Given the description of an element on the screen output the (x, y) to click on. 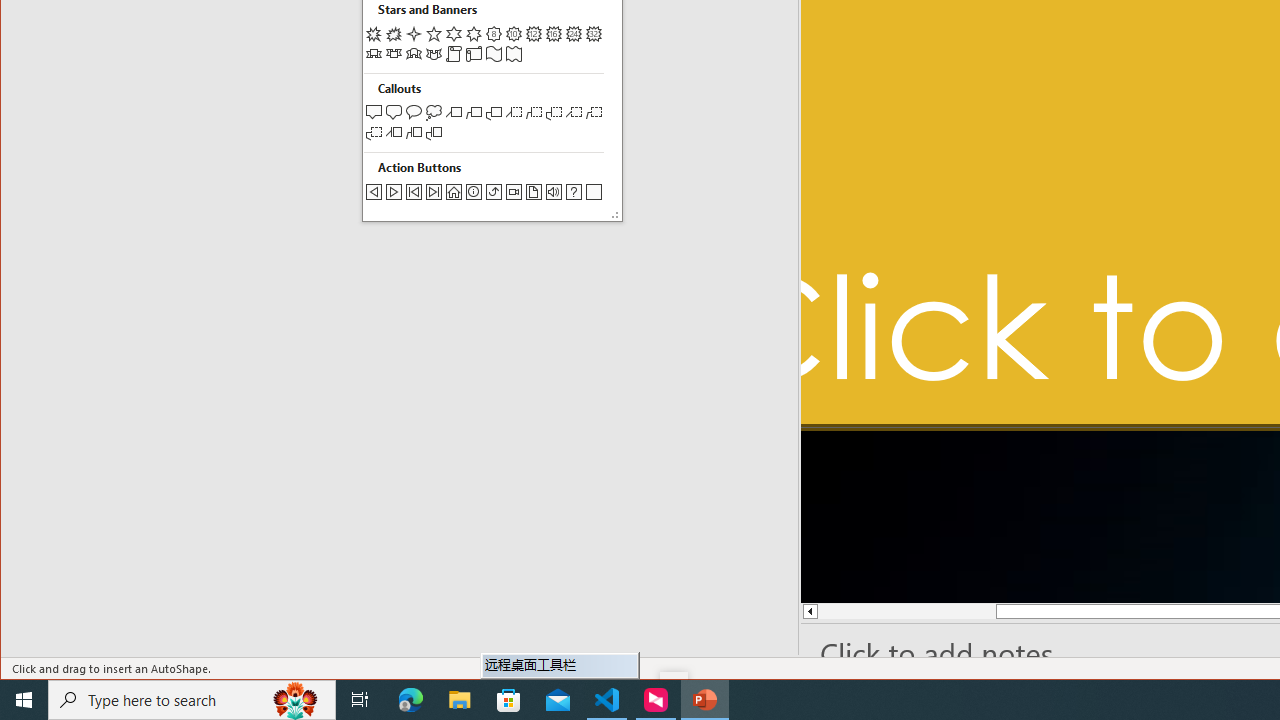
PowerPoint - 1 running window (704, 699)
Visual Studio Code - 1 running window (607, 699)
Task View (359, 699)
File Explorer (460, 699)
Search highlights icon opens search home window (295, 699)
Start (24, 699)
Microsoft Edge (411, 699)
Type here to search (191, 699)
Microsoft Store (509, 699)
